Given the description of an element on the screen output the (x, y) to click on. 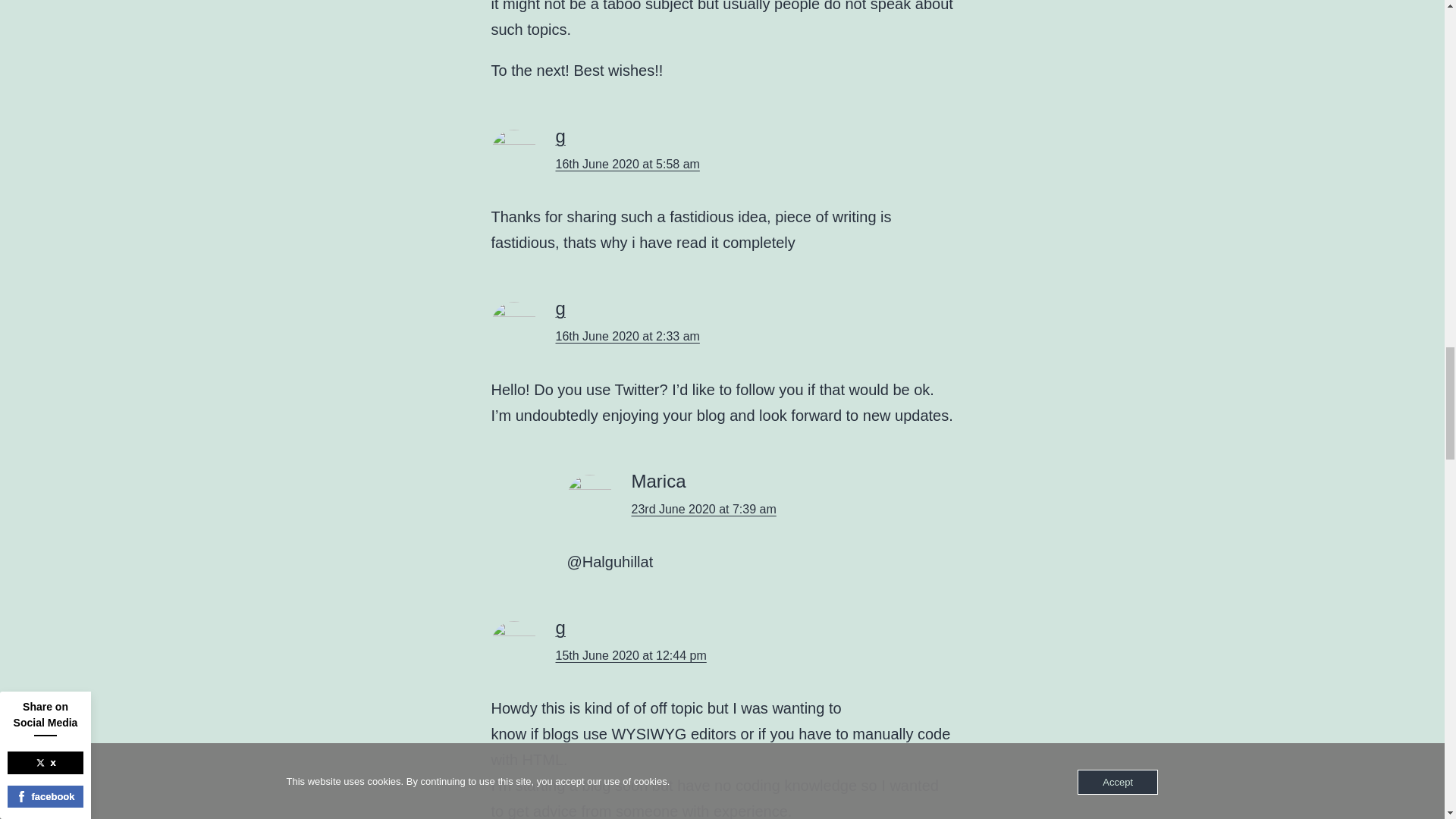
15th June 2020 at 12:44 pm (630, 655)
16th June 2020 at 5:58 am (626, 164)
16th June 2020 at 2:33 am (626, 336)
23rd June 2020 at 7:39 am (703, 508)
